Given the description of an element on the screen output the (x, y) to click on. 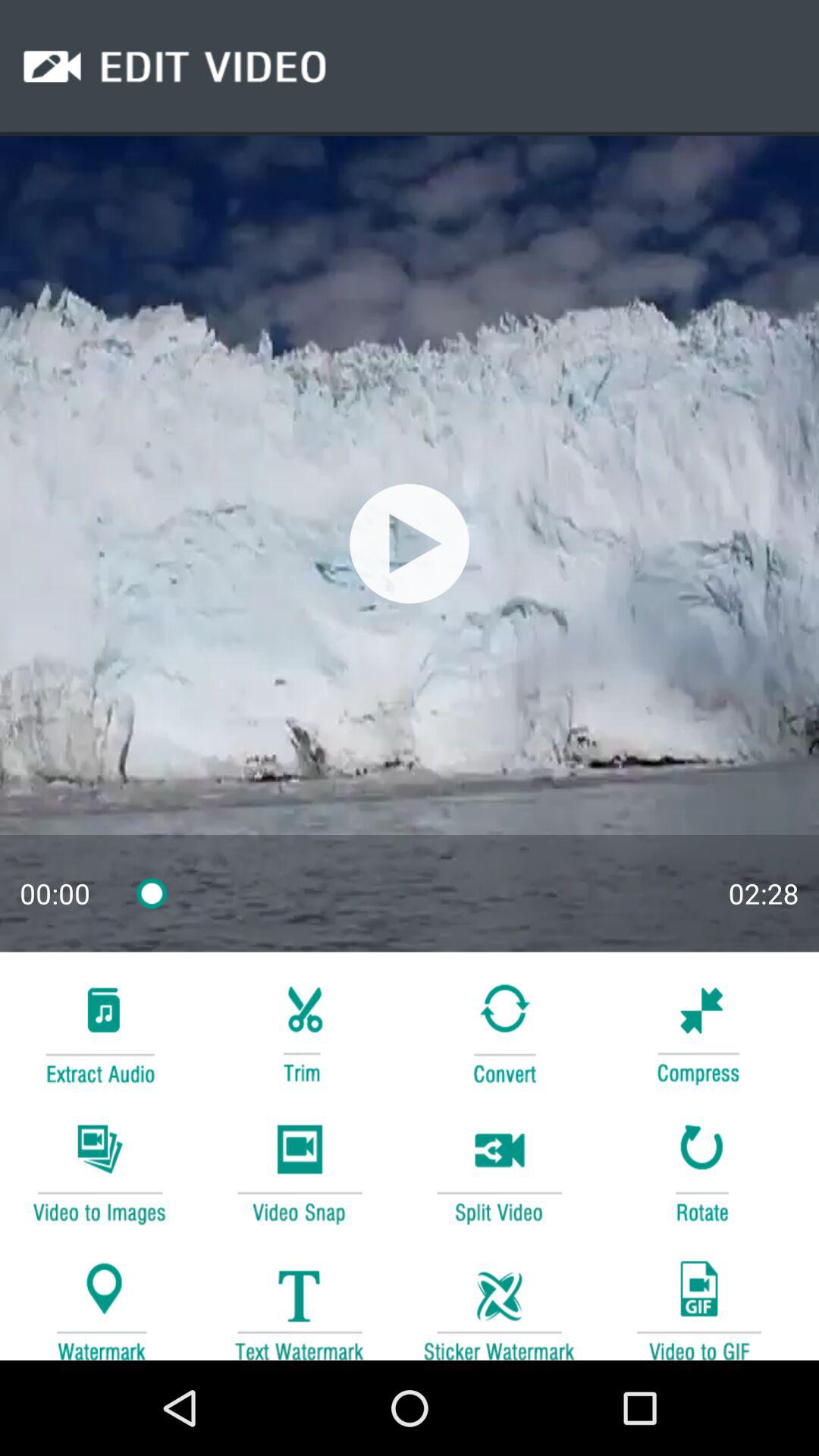
to add watermark (99, 1303)
